Given the description of an element on the screen output the (x, y) to click on. 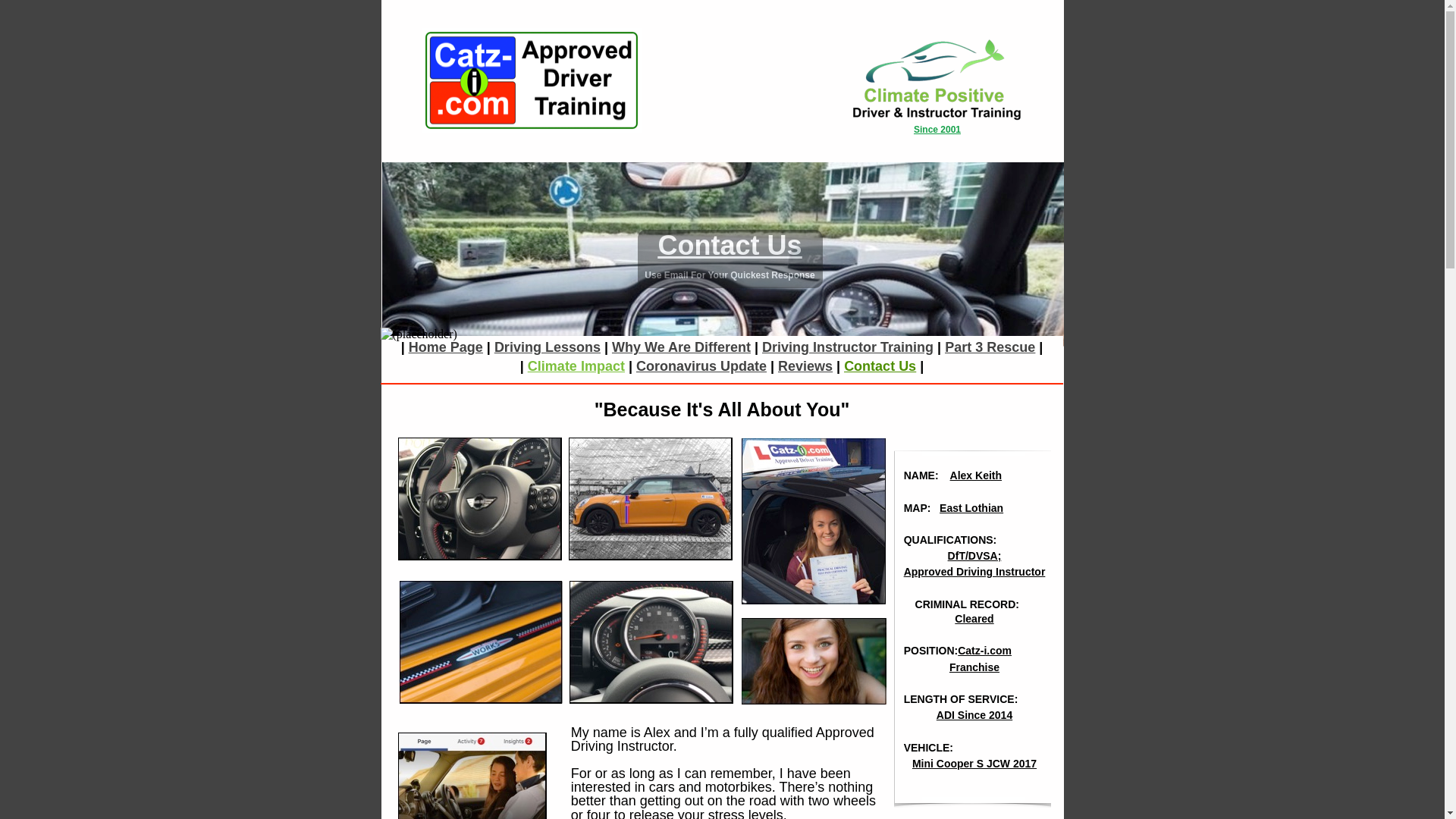
Contact Us (879, 365)
Contact Us (730, 245)
Home Page (446, 346)
Why We Are Different (681, 346)
Part 3 Rescue (989, 346)
Climate Impact (575, 365)
Driving Instructor Training (847, 346)
Reviews (804, 365)
Driving Lessons (547, 346)
Coronavirus Update (701, 365)
